Given the description of an element on the screen output the (x, y) to click on. 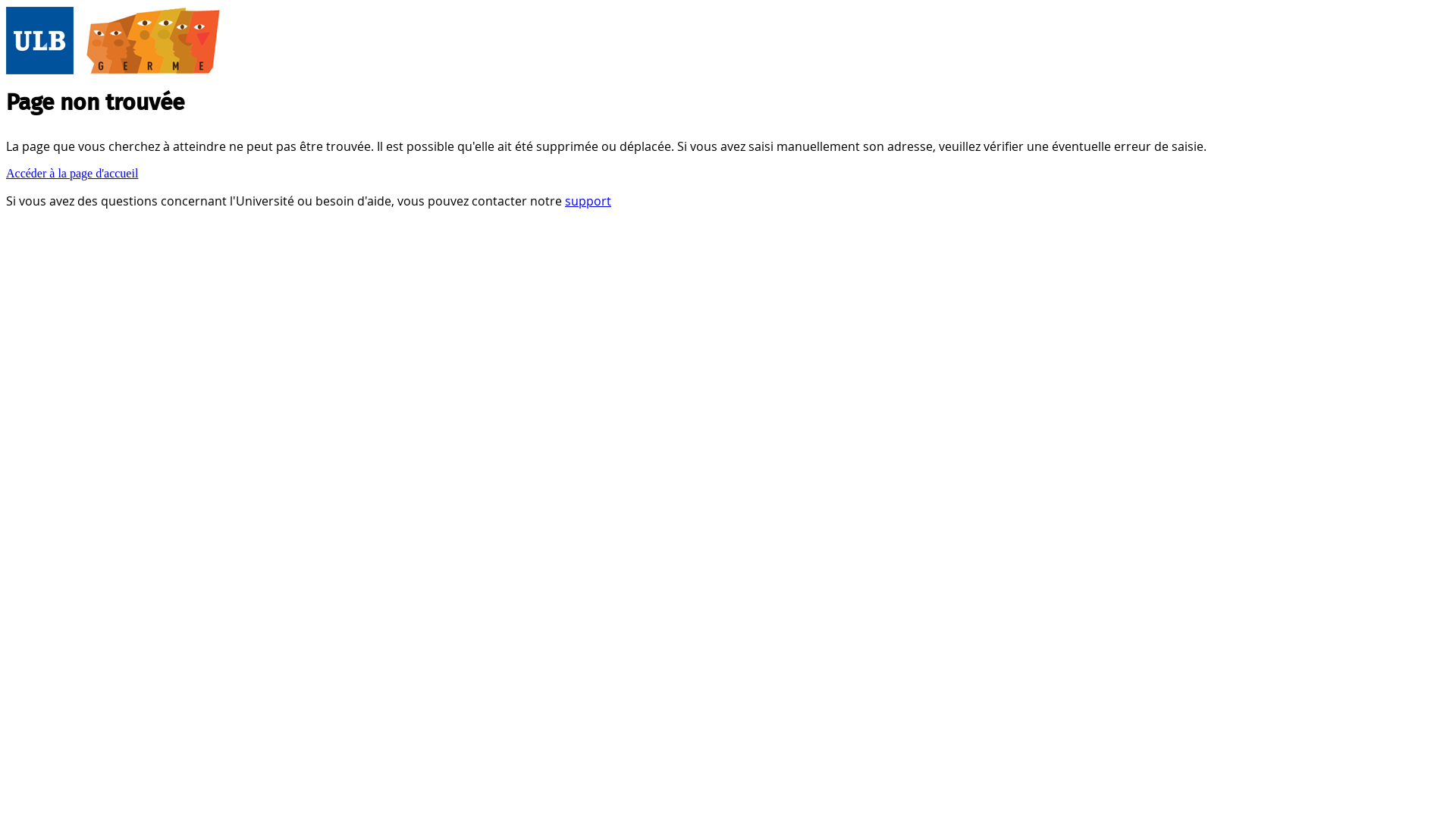
support Element type: text (587, 200)
